Given the description of an element on the screen output the (x, y) to click on. 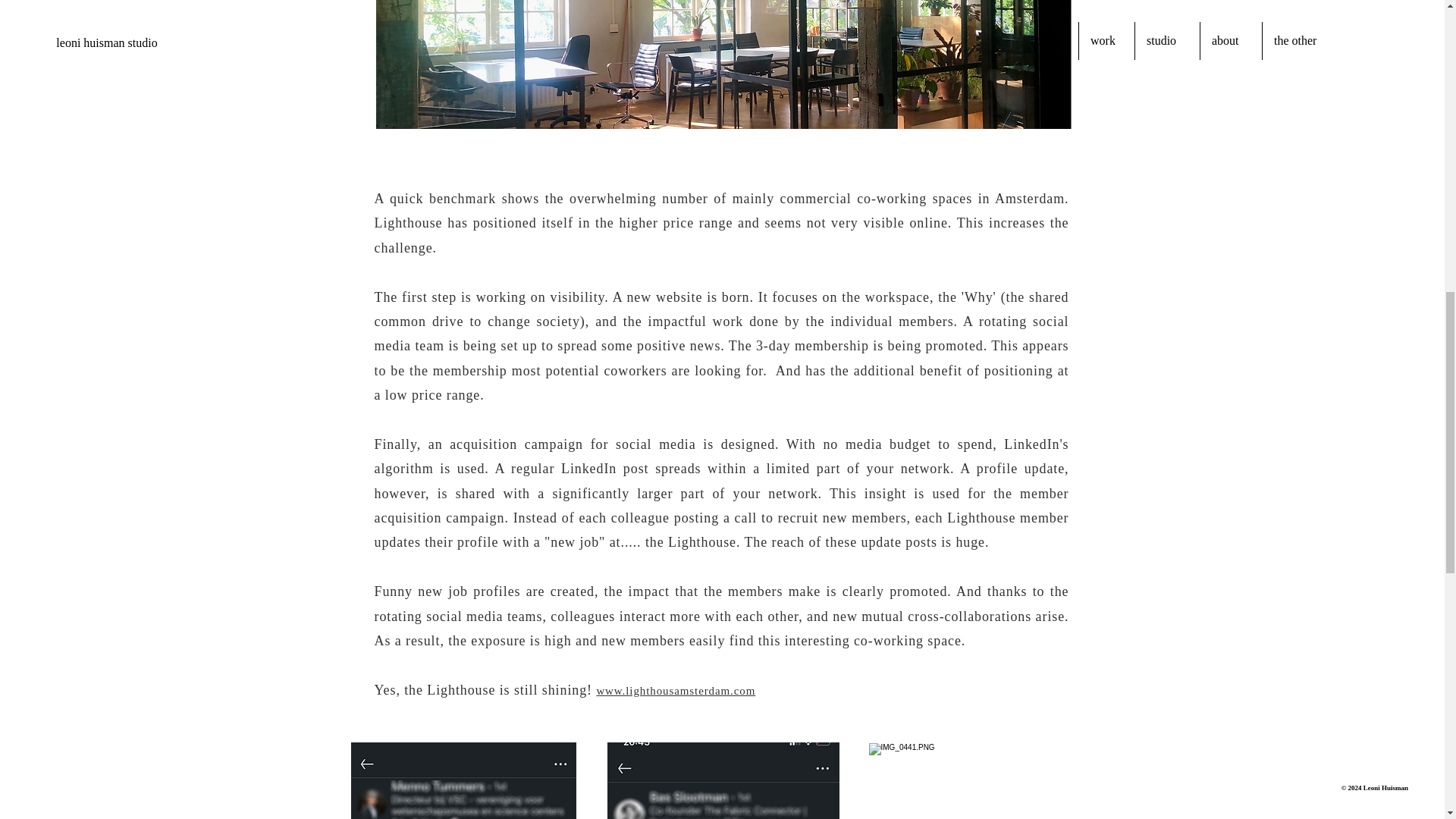
www.lighthousamsterdam.com (675, 689)
